Given the description of an element on the screen output the (x, y) to click on. 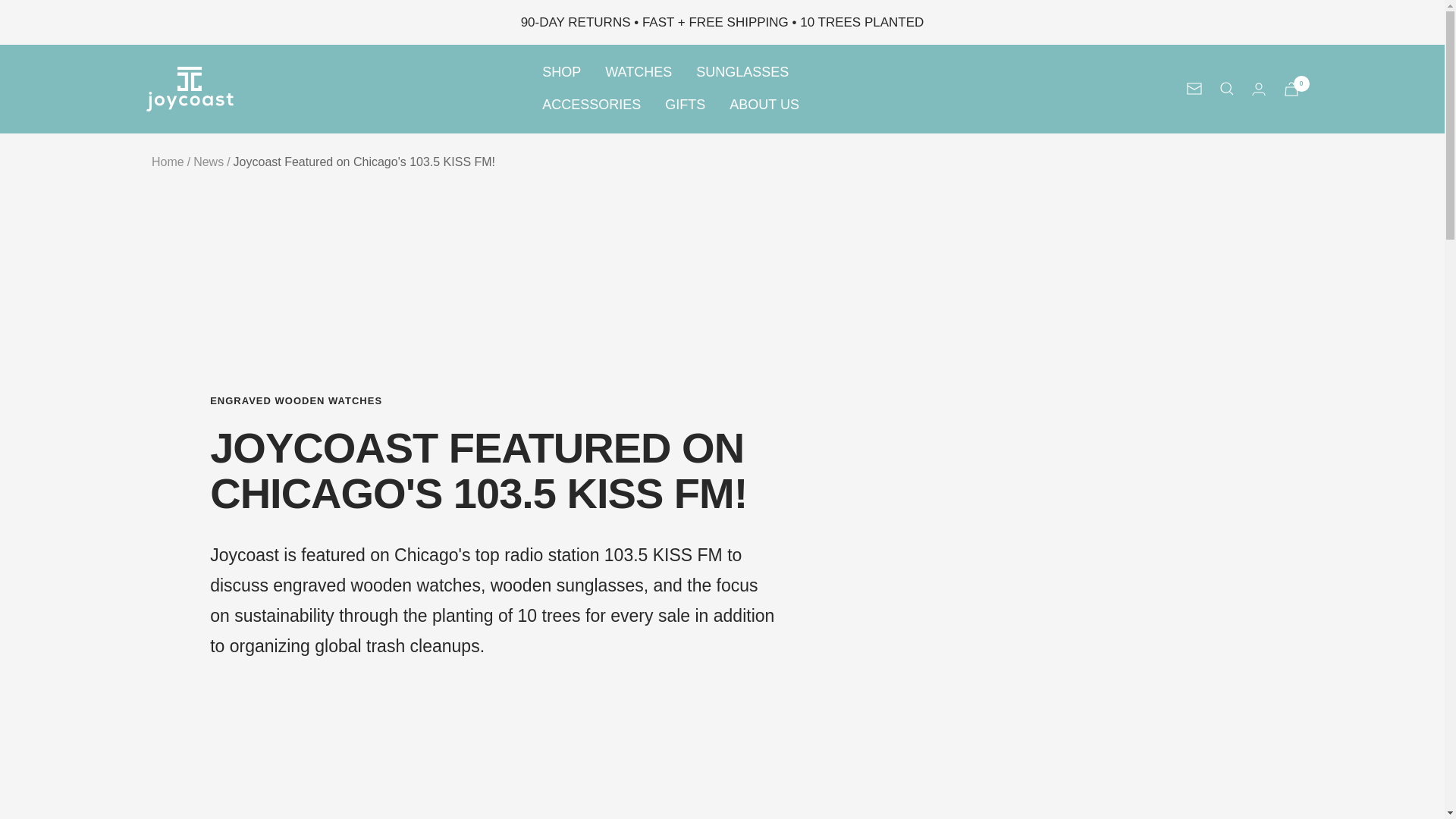
News (208, 161)
Home (167, 161)
ABOUT US (764, 105)
WATCHES (638, 72)
Newsletter (1194, 88)
ACCESSORIES (590, 105)
Joycoast (188, 88)
0 (1291, 88)
ENGRAVED WOODEN WATCHES (494, 400)
GIFTS (684, 105)
SUNGLASSES (742, 72)
SHOP (560, 72)
